Given the description of an element on the screen output the (x, y) to click on. 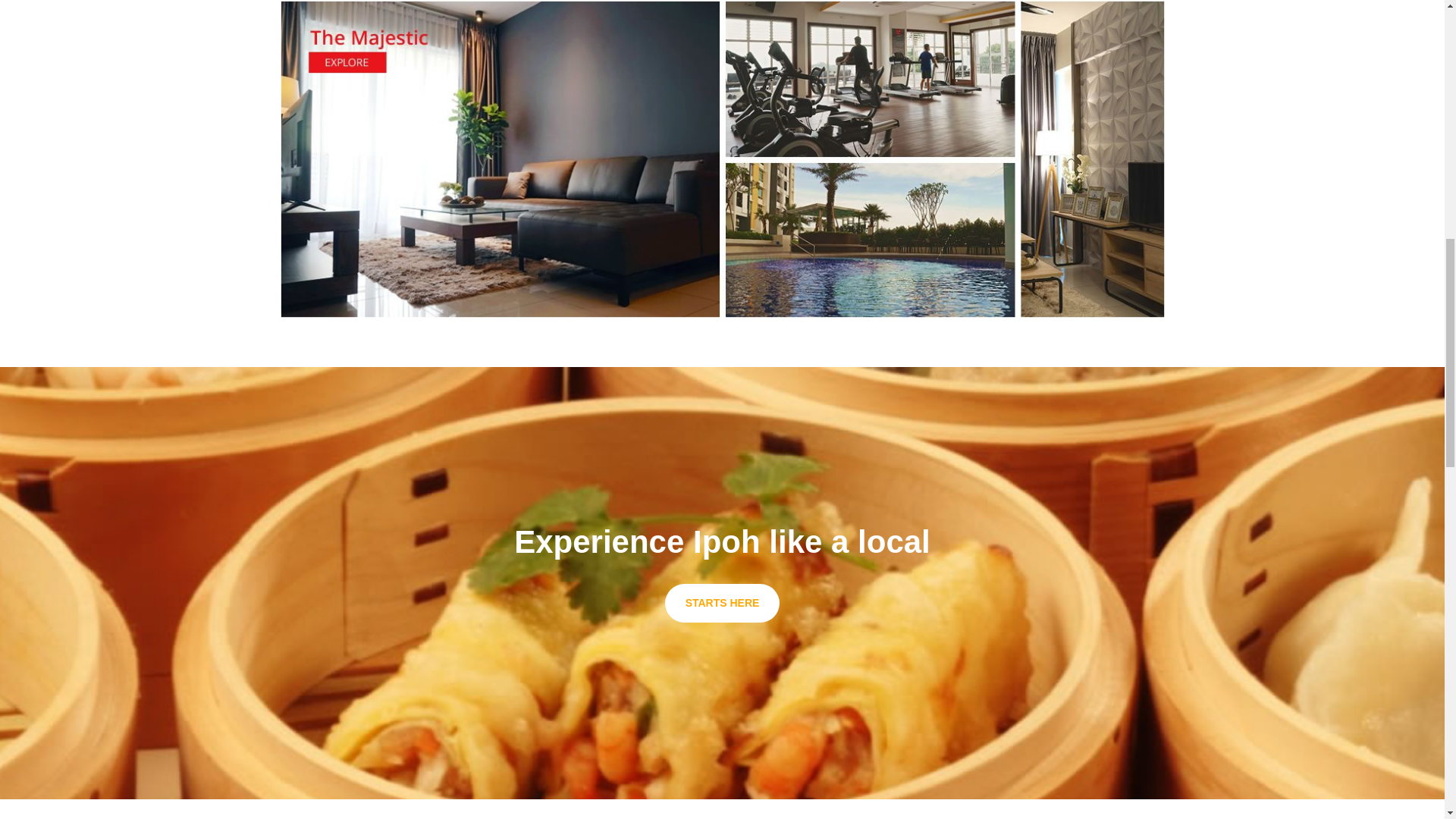
STARTS HERE (722, 602)
